Given the description of an element on the screen output the (x, y) to click on. 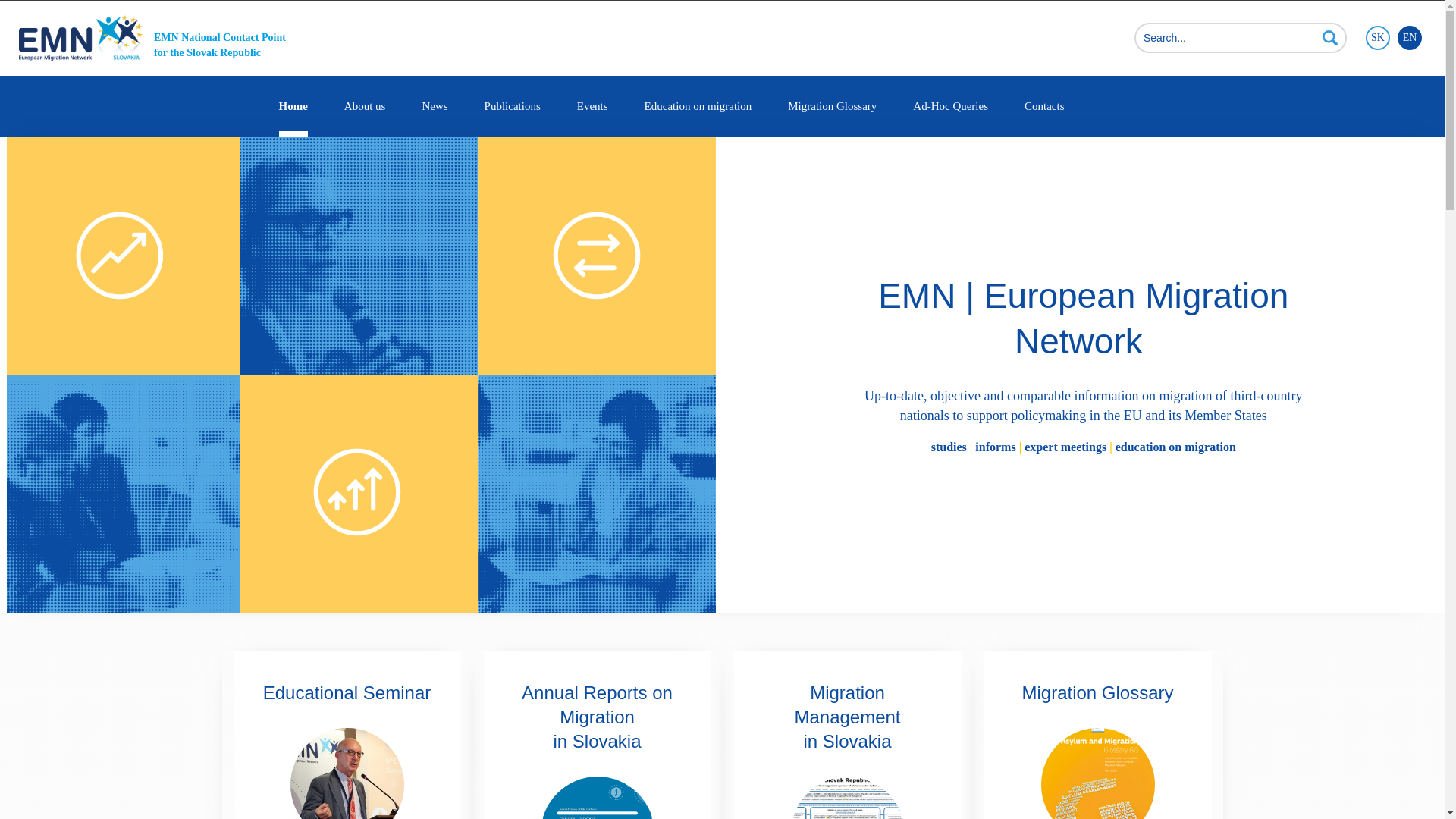
Education on migration (698, 106)
Publications (512, 106)
Migration Glossary (831, 106)
expert meetings (1065, 446)
SK (1377, 37)
education on migration (1175, 446)
Ad-Hoc Queries (950, 106)
studies  (950, 446)
EN (1409, 37)
informs (994, 446)
